Given the description of an element on the screen output the (x, y) to click on. 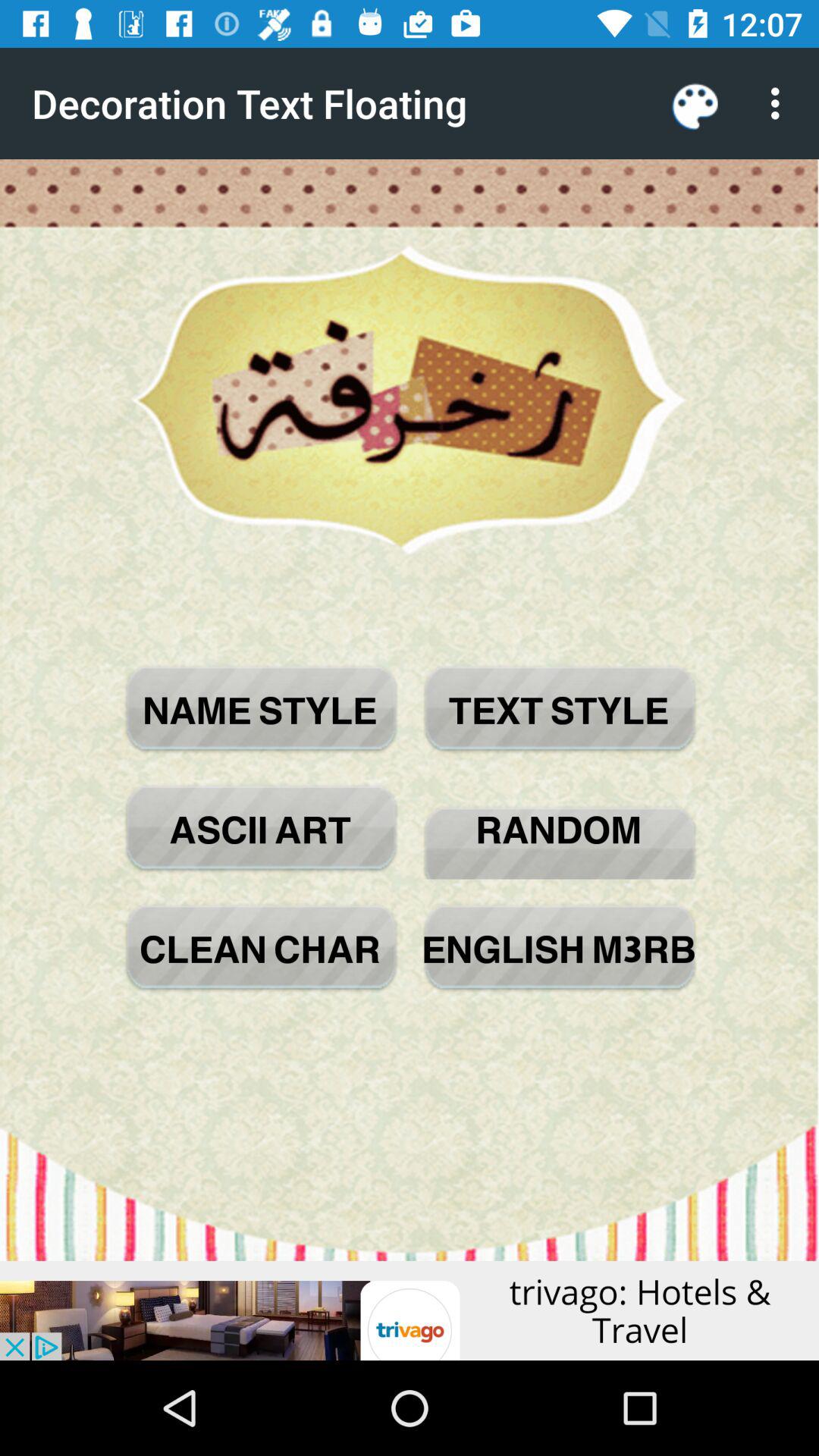
advertisement panel (409, 1310)
